Given the description of an element on the screen output the (x, y) to click on. 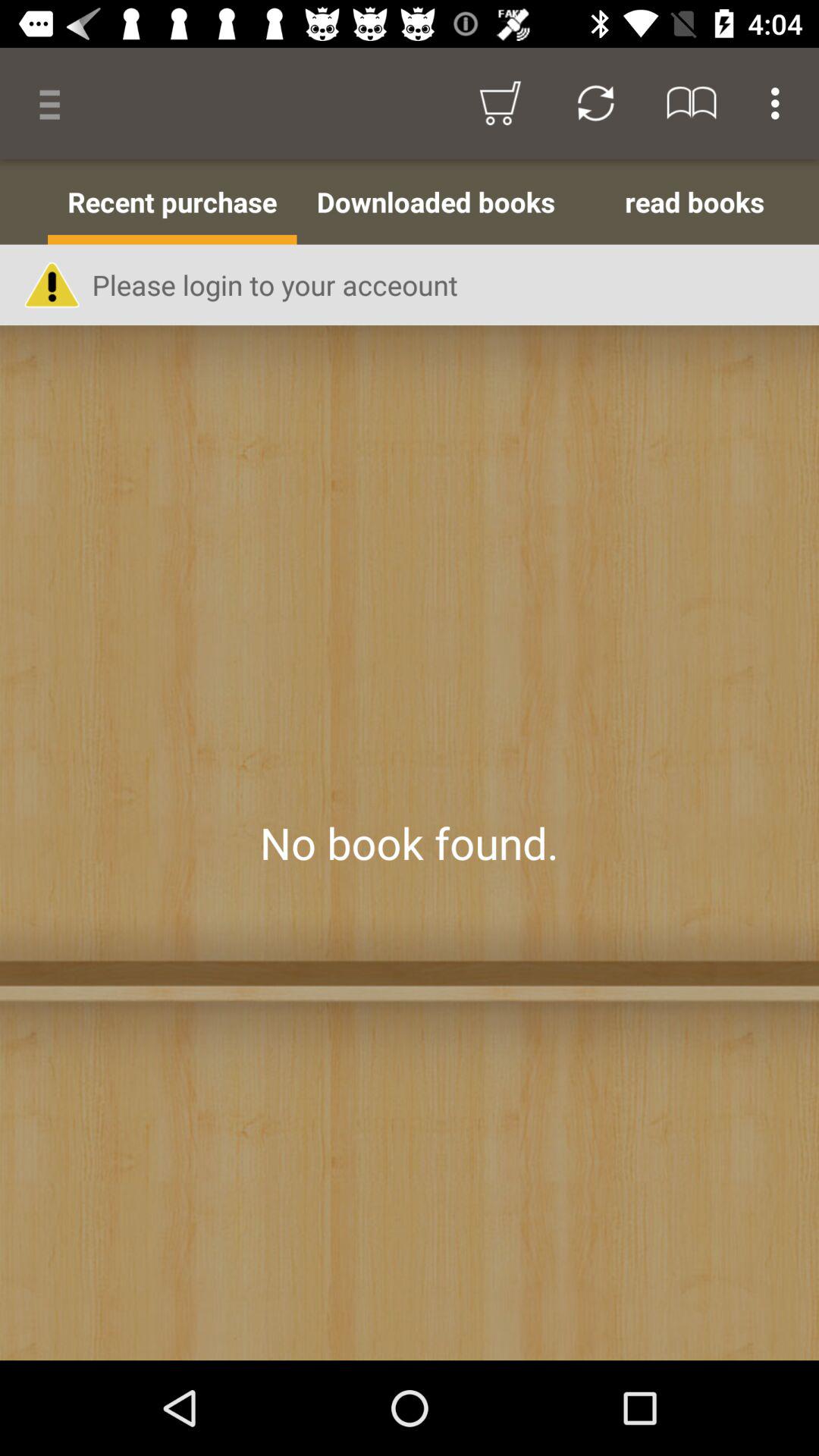
turn on app next to the read books app (435, 201)
